Given the description of an element on the screen output the (x, y) to click on. 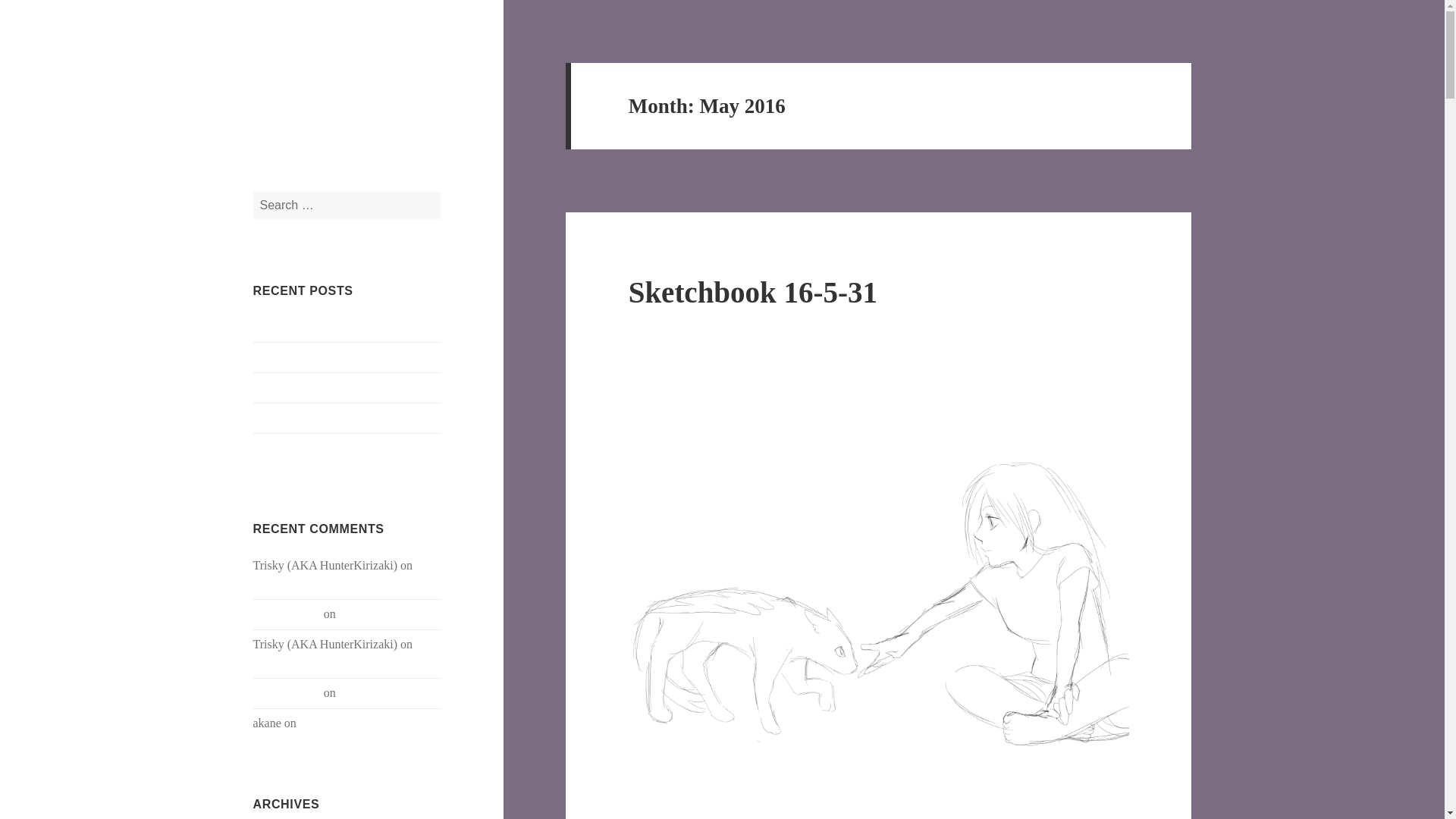
Sentia Shinou (286, 692)
Sketchbook 22-5-30 (302, 418)
Sentia Shinou (286, 613)
Looking Up (309, 74)
Sketchbook 22-5-31 (302, 387)
Sketchbook 20-4-7 (345, 722)
Sketchbook 22-5-29 (302, 448)
Sketchbook 21-7-1 (299, 583)
Comic Site News (295, 357)
Sketchbook 20-4-7 (384, 692)
Sketchbook 21-7-1 (299, 662)
Page previews? (291, 327)
